Given the description of an element on the screen output the (x, y) to click on. 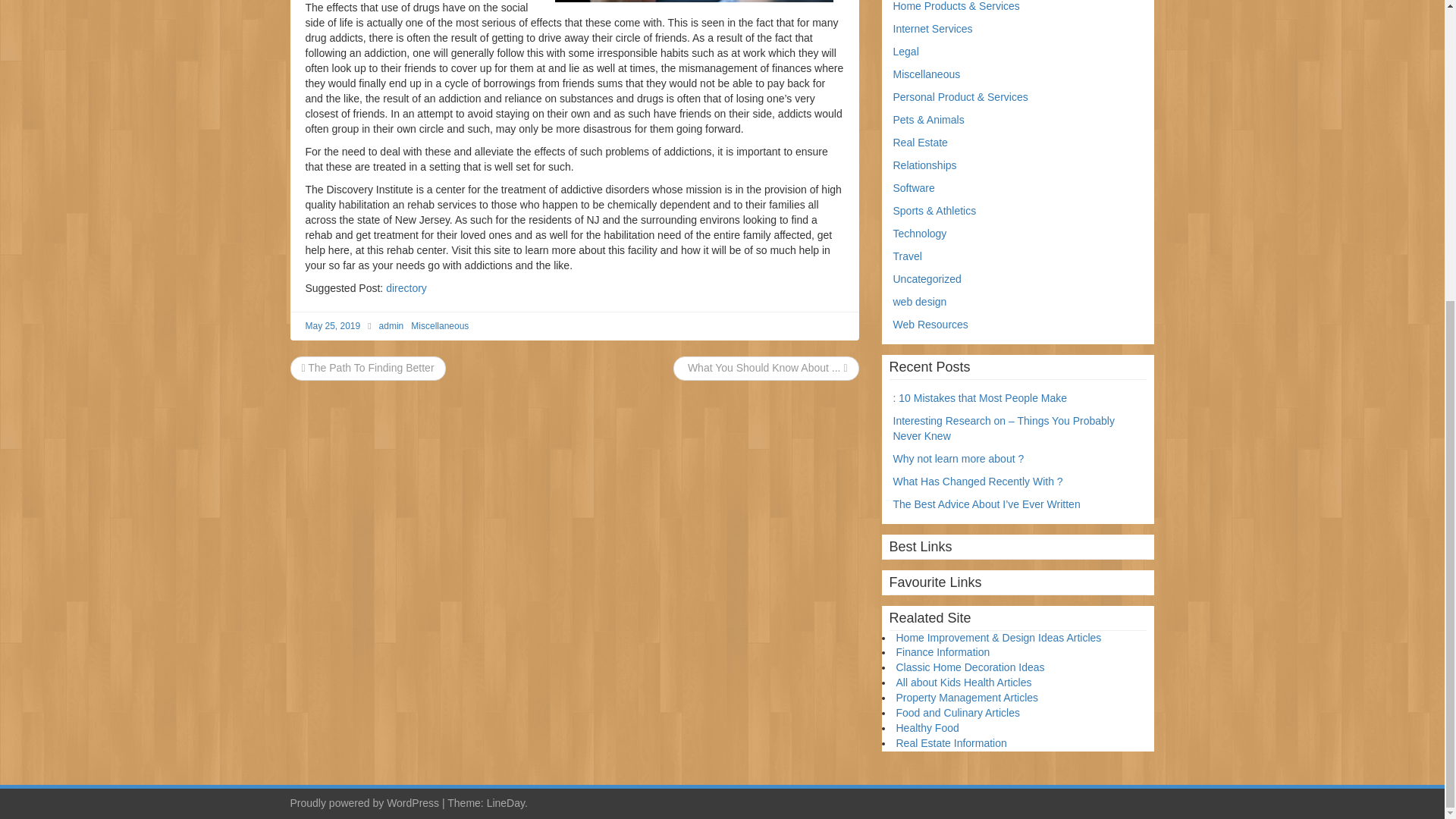
Travel (907, 256)
: 10 Mistakes that Most People Make (980, 398)
Web Resources (930, 324)
Legal (905, 51)
Relationships (924, 164)
Software (913, 187)
 The Path To Finding Better (367, 367)
Why not learn more about ? (959, 458)
Technology (920, 233)
web design (920, 301)
Real Estate (920, 142)
Miscellaneous (926, 73)
Uncategorized (926, 278)
Internet Services (932, 28)
May 25, 2019 (331, 326)
